Given the description of an element on the screen output the (x, y) to click on. 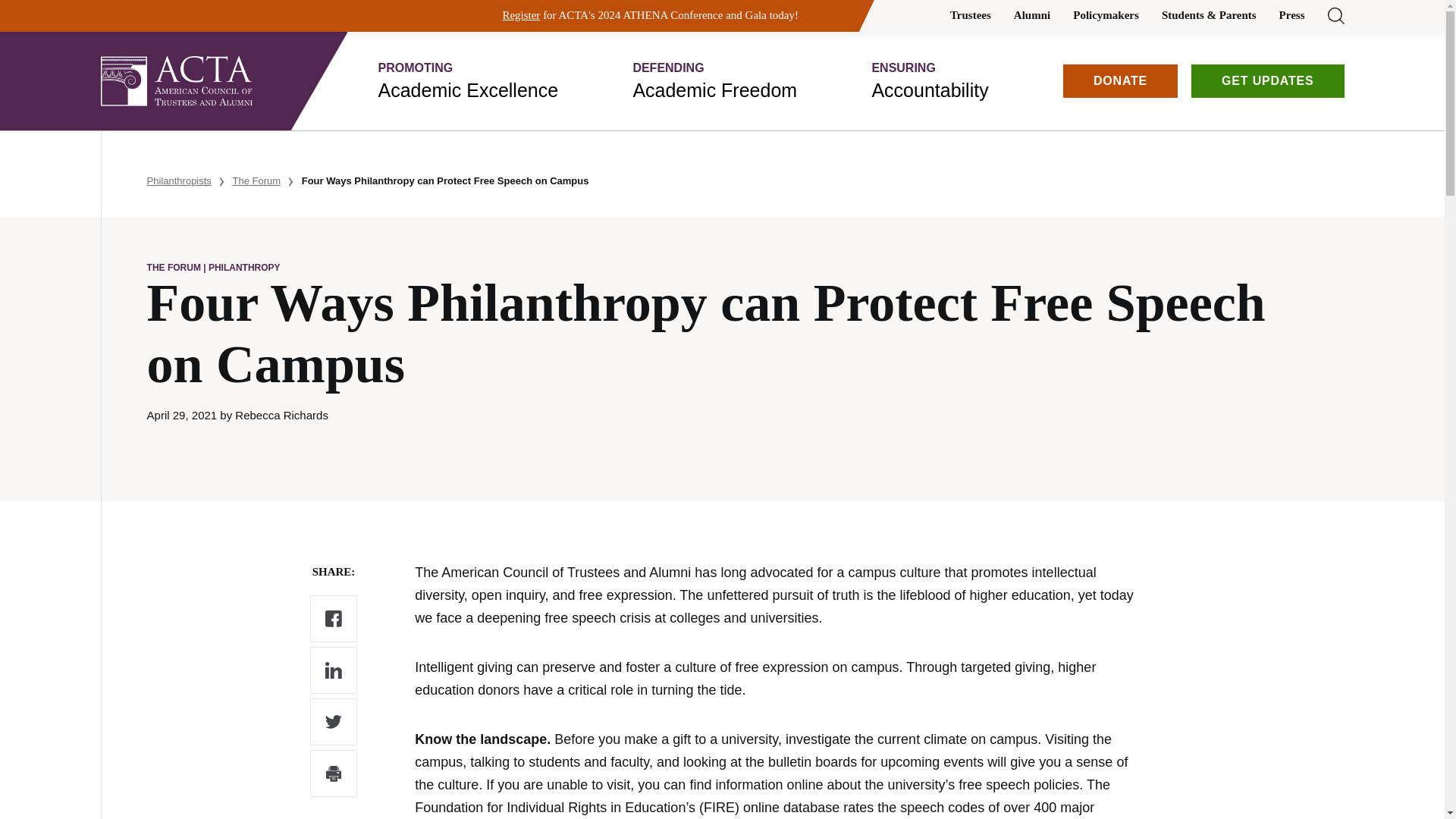
Policymakers (713, 80)
Alumni (467, 80)
Trustees (1105, 15)
Register (929, 80)
Press (1031, 15)
